Given the description of an element on the screen output the (x, y) to click on. 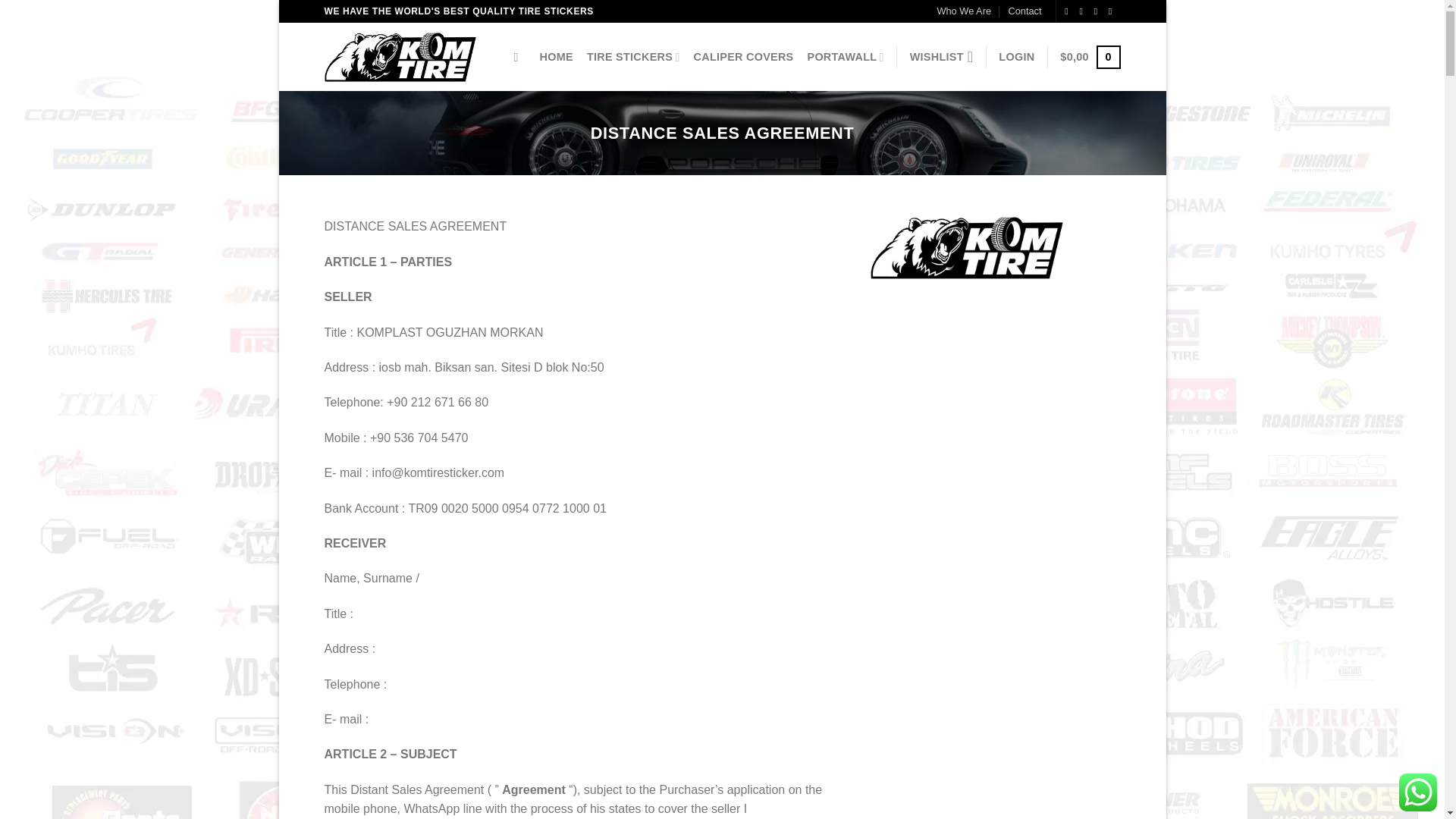
PORTAWALL (844, 57)
CALIPER COVERS (743, 56)
TIRE STICKERS (632, 57)
Kom Tire - Custom Tire Stickers (400, 56)
HOME (556, 56)
